Given the description of an element on the screen output the (x, y) to click on. 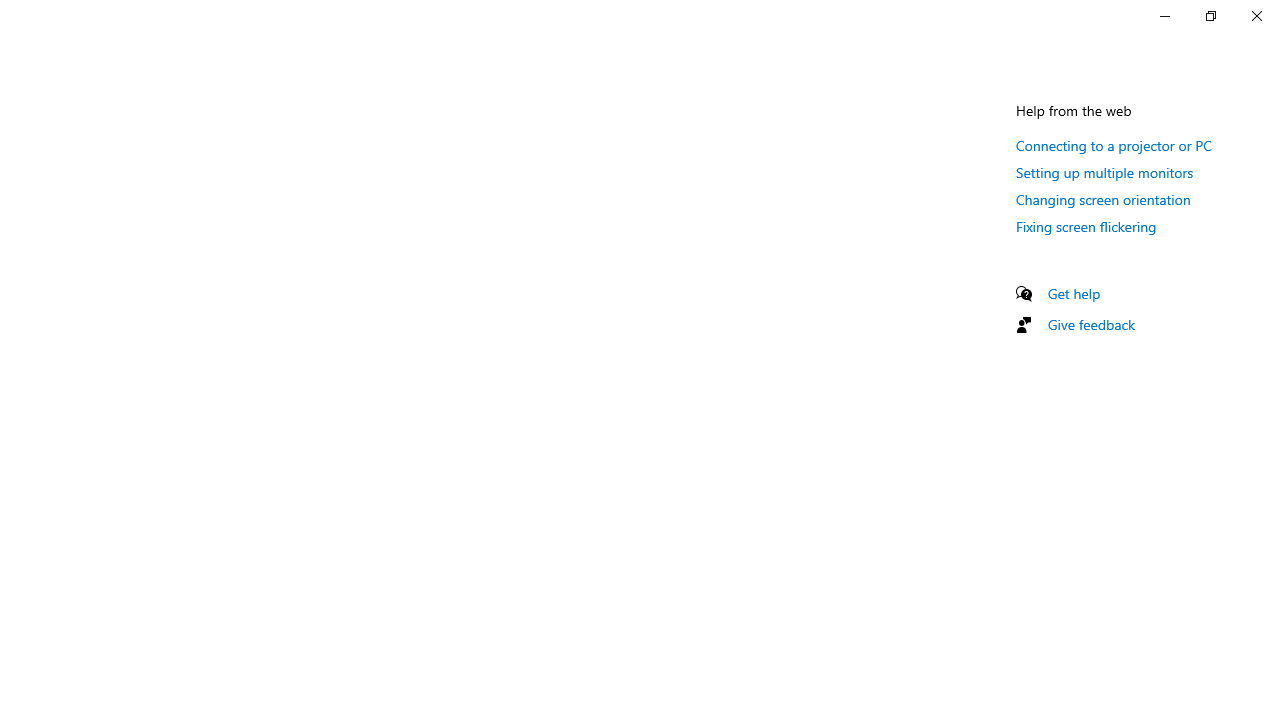
Setting up multiple monitors (1105, 172)
Restore Settings (1210, 15)
Changing screen orientation (1103, 199)
Fixing screen flickering (1086, 226)
Get help (1074, 293)
Connecting to a projector or PC (1114, 145)
Give feedback (1091, 324)
Minimize Settings (1164, 15)
Close Settings (1256, 15)
